Given the description of an element on the screen output the (x, y) to click on. 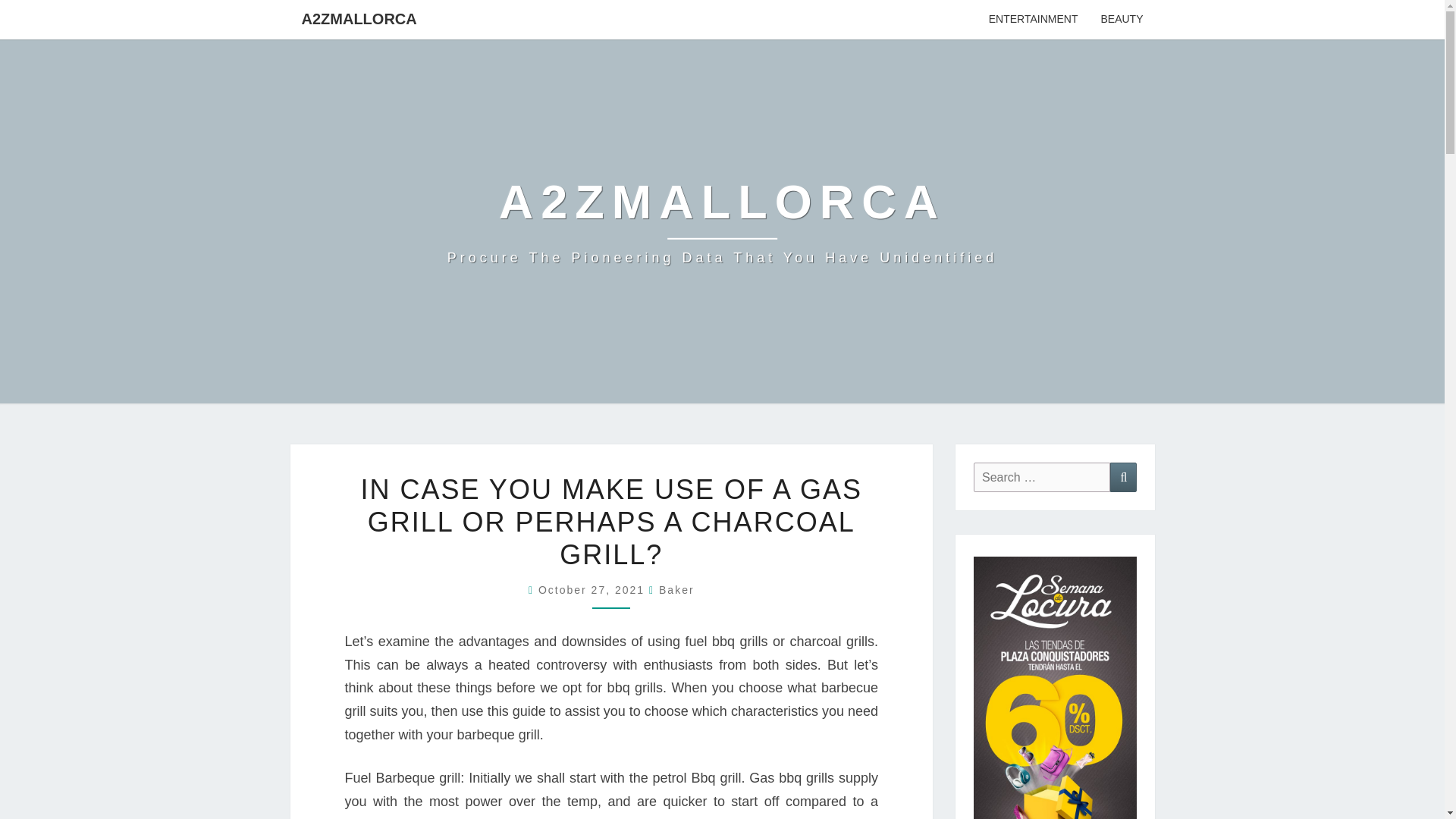
October 27, 2021 (593, 589)
ENTERTAINMENT (1032, 19)
Search for: (1041, 477)
BEAUTY (1121, 19)
A2zmallorca (721, 221)
A2ZMALLORCA (358, 18)
2:15 pm (593, 589)
Search (1123, 477)
View all posts by Baker (676, 589)
Baker (676, 589)
